Given the description of an element on the screen output the (x, y) to click on. 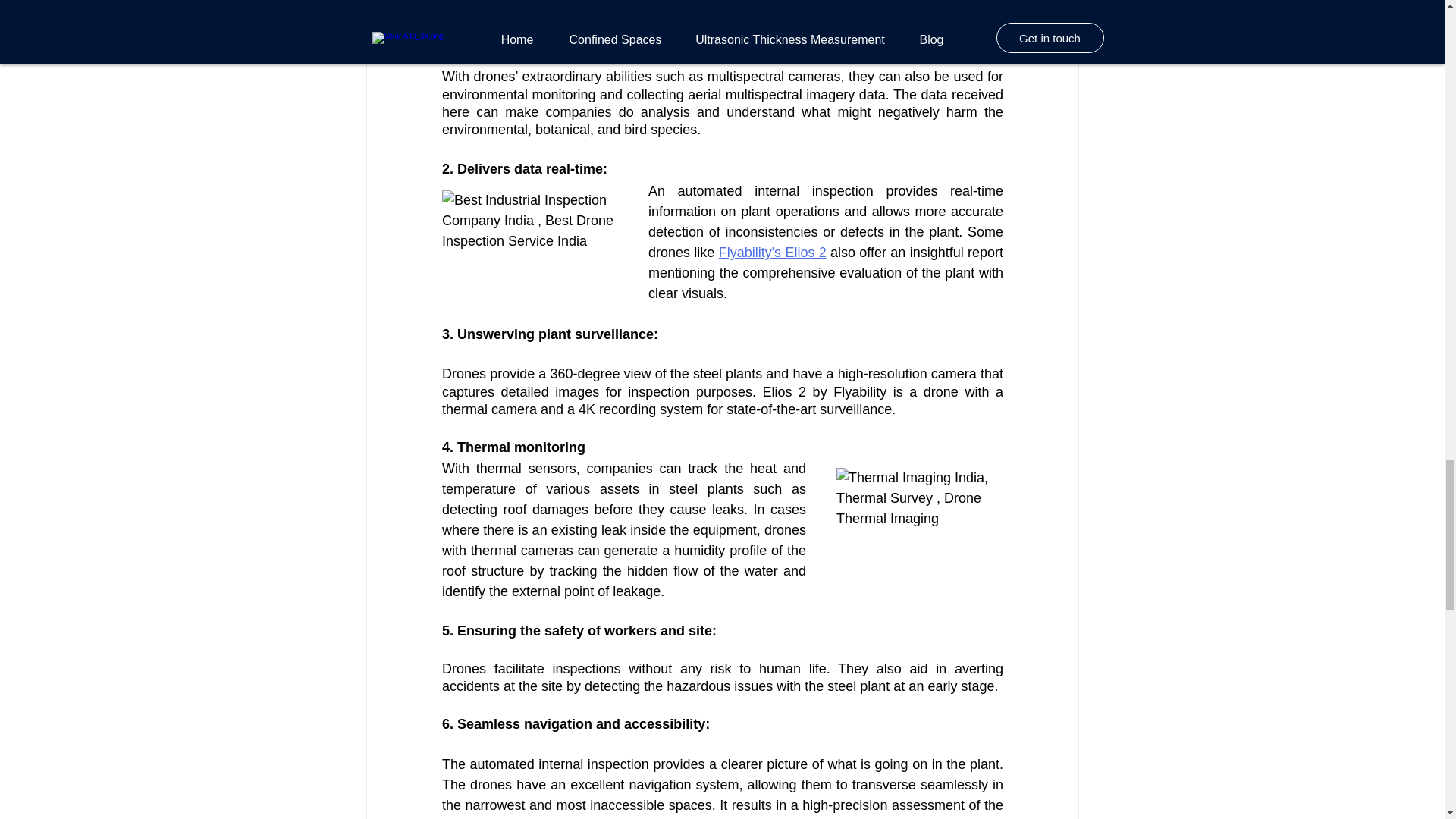
Flyability's Elios 2 (771, 252)
